Given the description of an element on the screen output the (x, y) to click on. 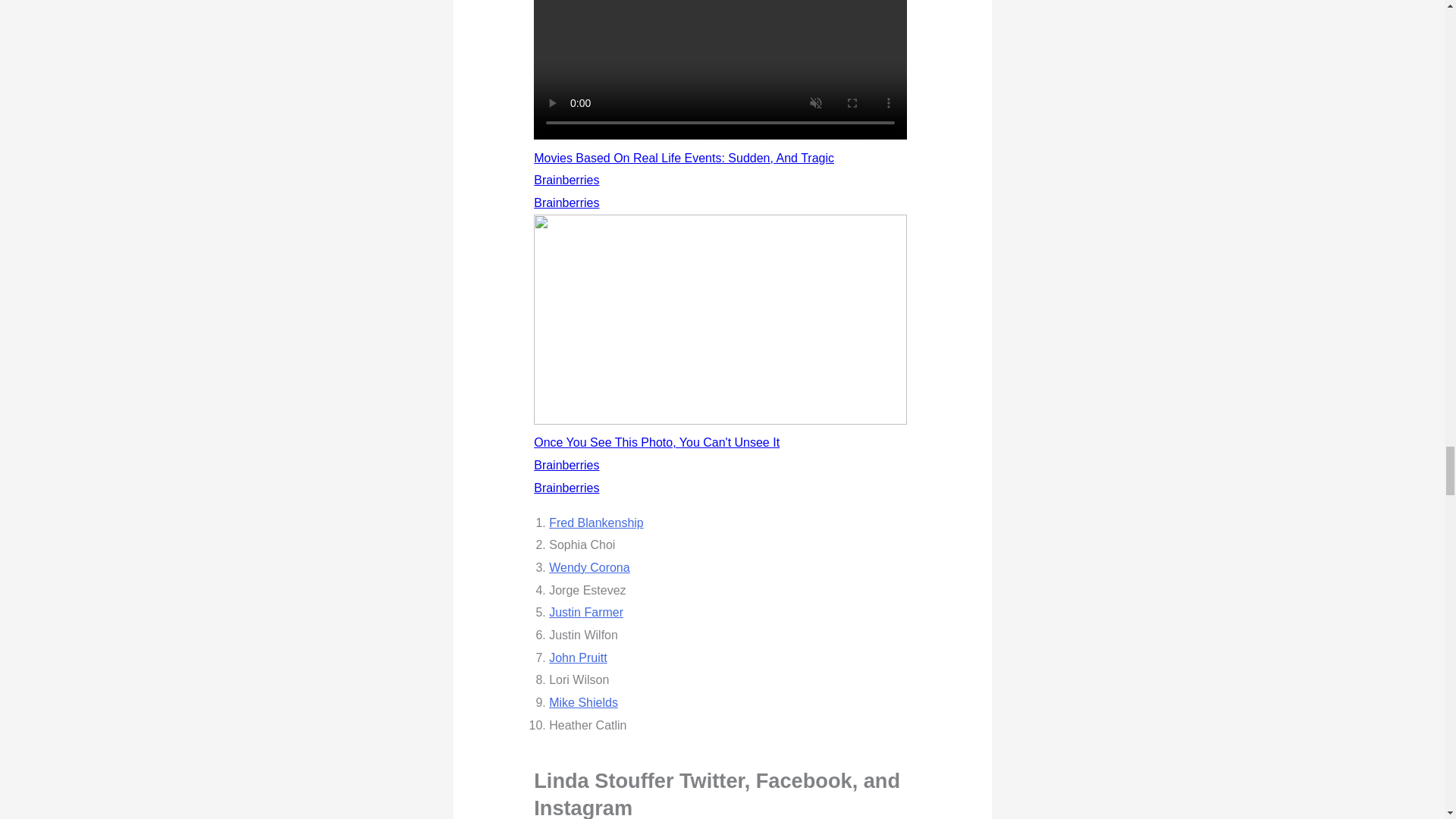
Justin Farmer (585, 612)
John Pruitt (577, 657)
Wendy Corona (588, 567)
Mike Shields (582, 702)
Fred Blankenship (595, 521)
